Given the description of an element on the screen output the (x, y) to click on. 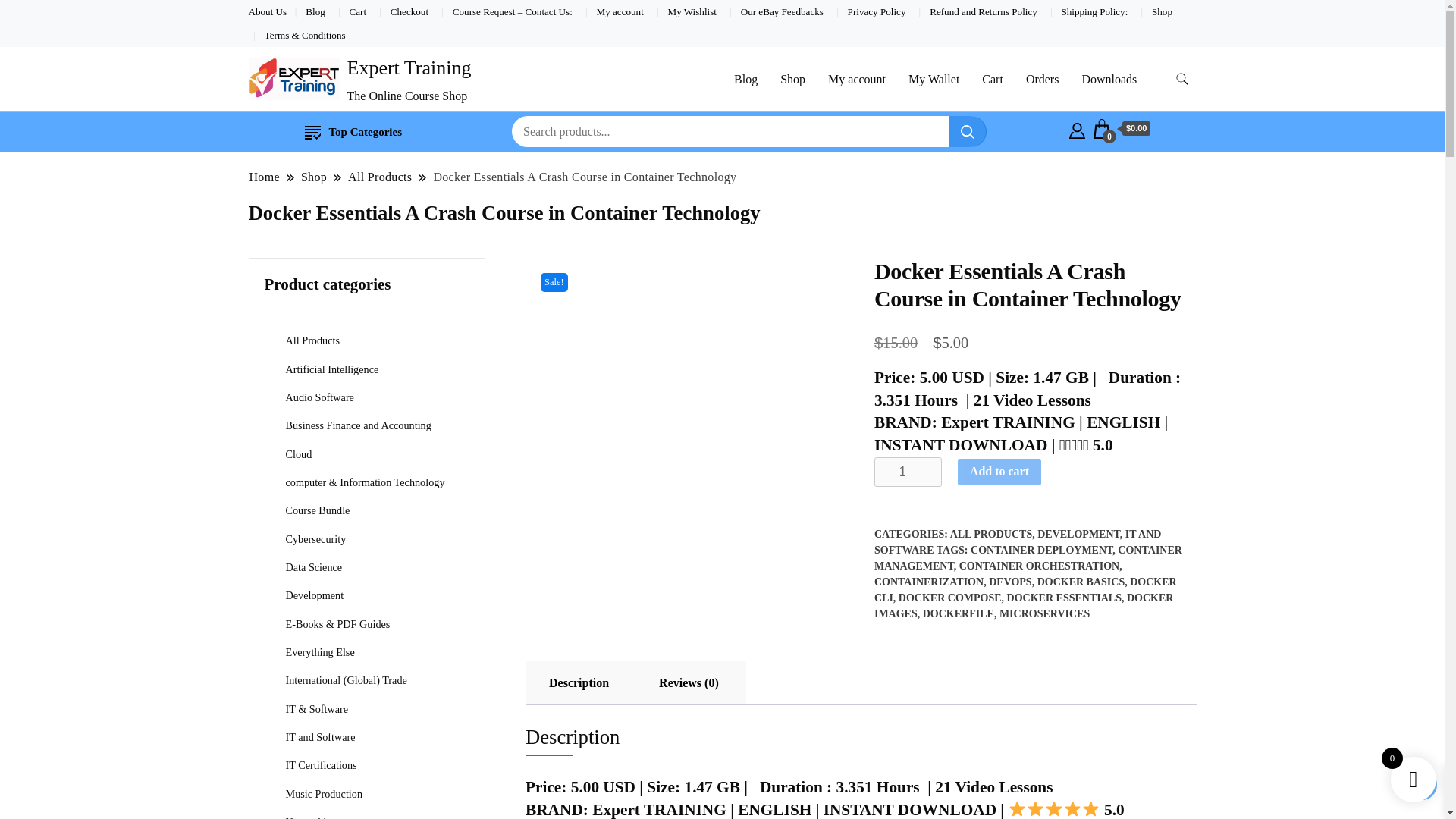
Refund and Returns Policy (983, 11)
Blog (314, 11)
My Account (1076, 128)
About Us (267, 11)
Cart (1121, 128)
Shipping Policy: (1094, 11)
My account (619, 11)
Checkout (409, 11)
Our eBay Feedbacks (782, 11)
My Wallet (933, 78)
